Given the description of an element on the screen output the (x, y) to click on. 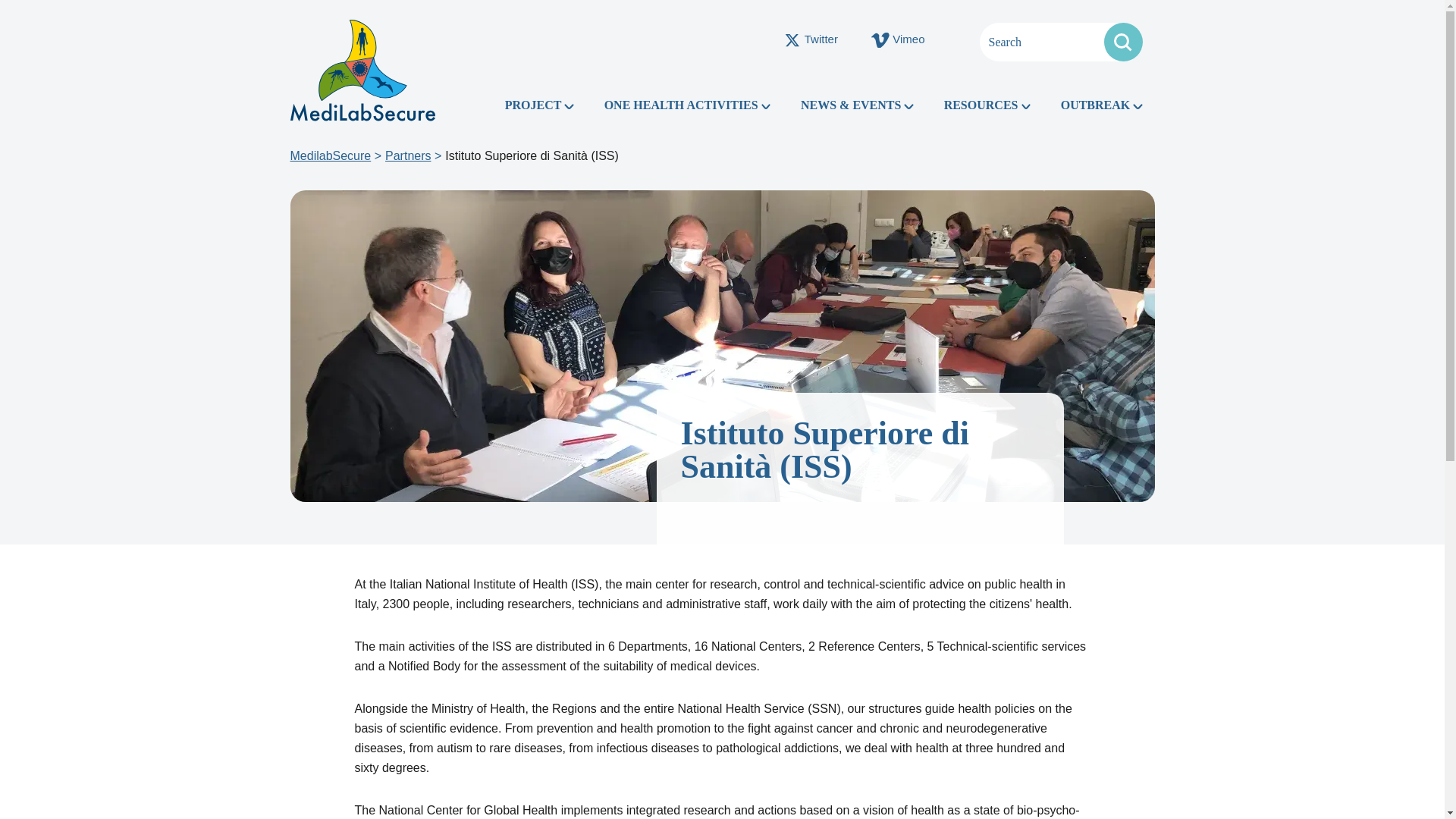
Partners (407, 155)
Home (361, 69)
Apply (1122, 41)
Vimeo (897, 38)
Twitter (810, 38)
MedilabSecure (330, 155)
Search keywords (1060, 41)
